Given the description of an element on the screen output the (x, y) to click on. 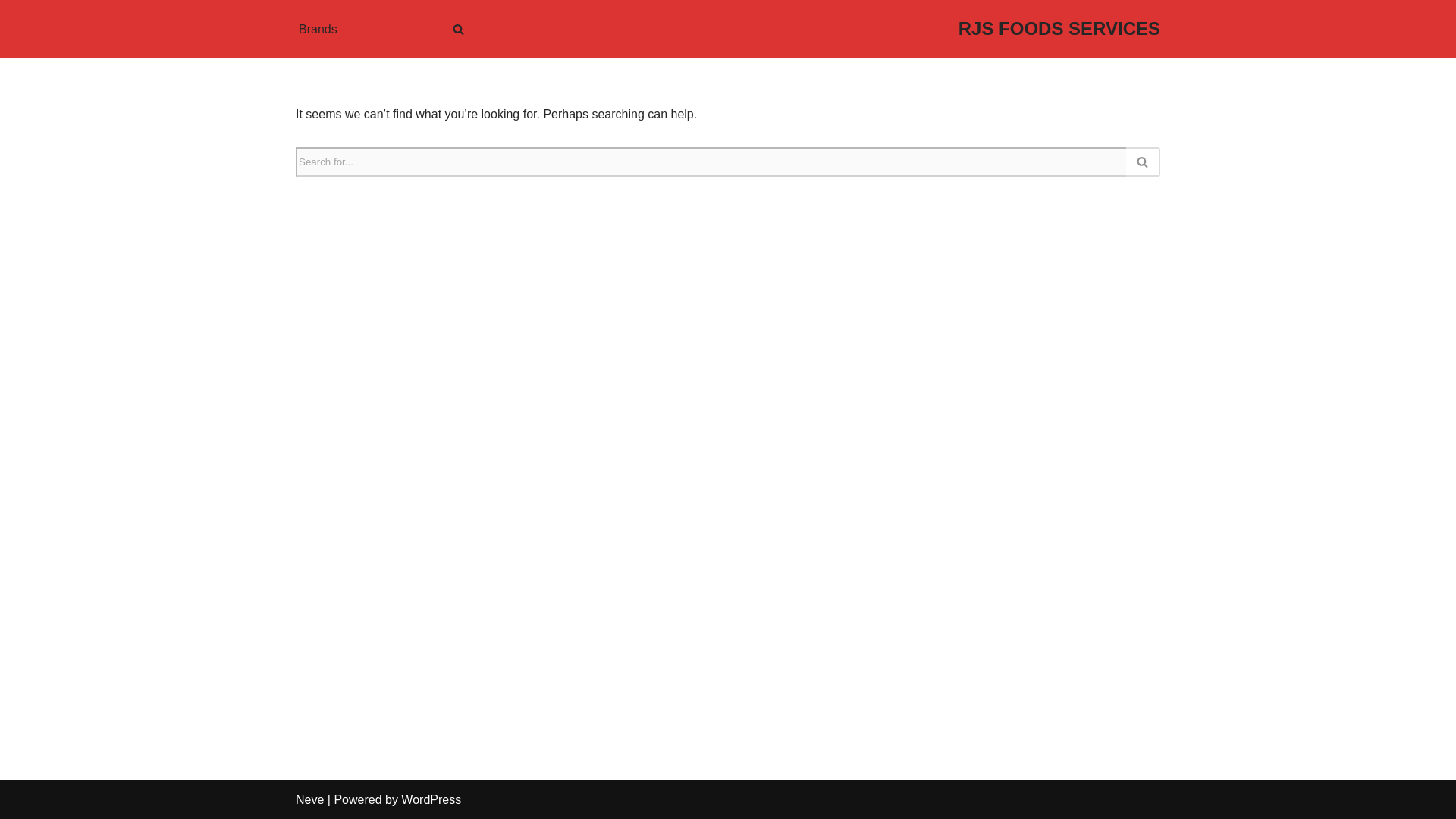
WordPress (431, 799)
Neve (309, 799)
Brands (317, 28)
Skip to content (11, 31)
RJS FOODS SERVICES (1059, 29)
